Given the description of an element on the screen output the (x, y) to click on. 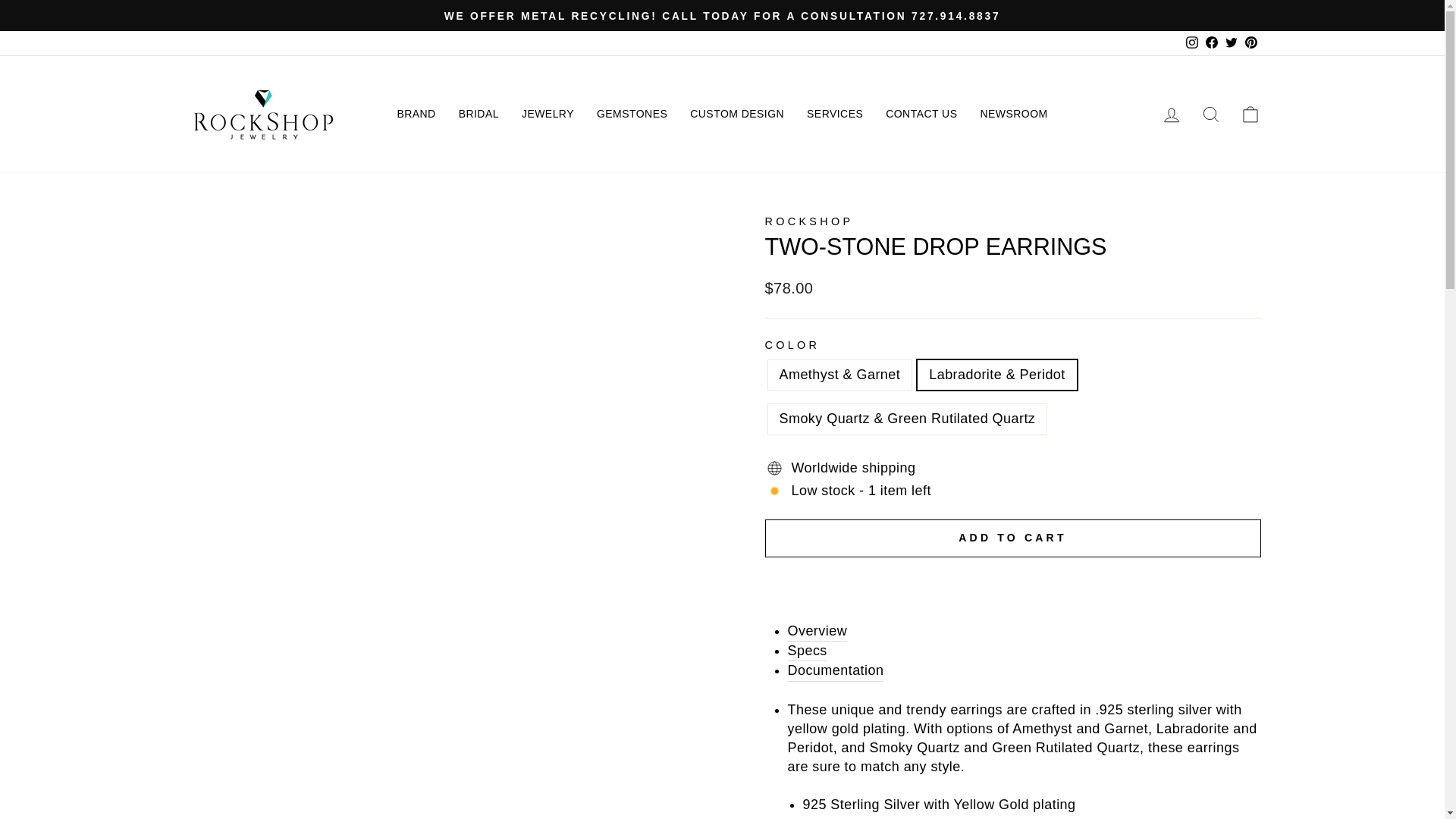
RockShop (808, 221)
